Given the description of an element on the screen output the (x, y) to click on. 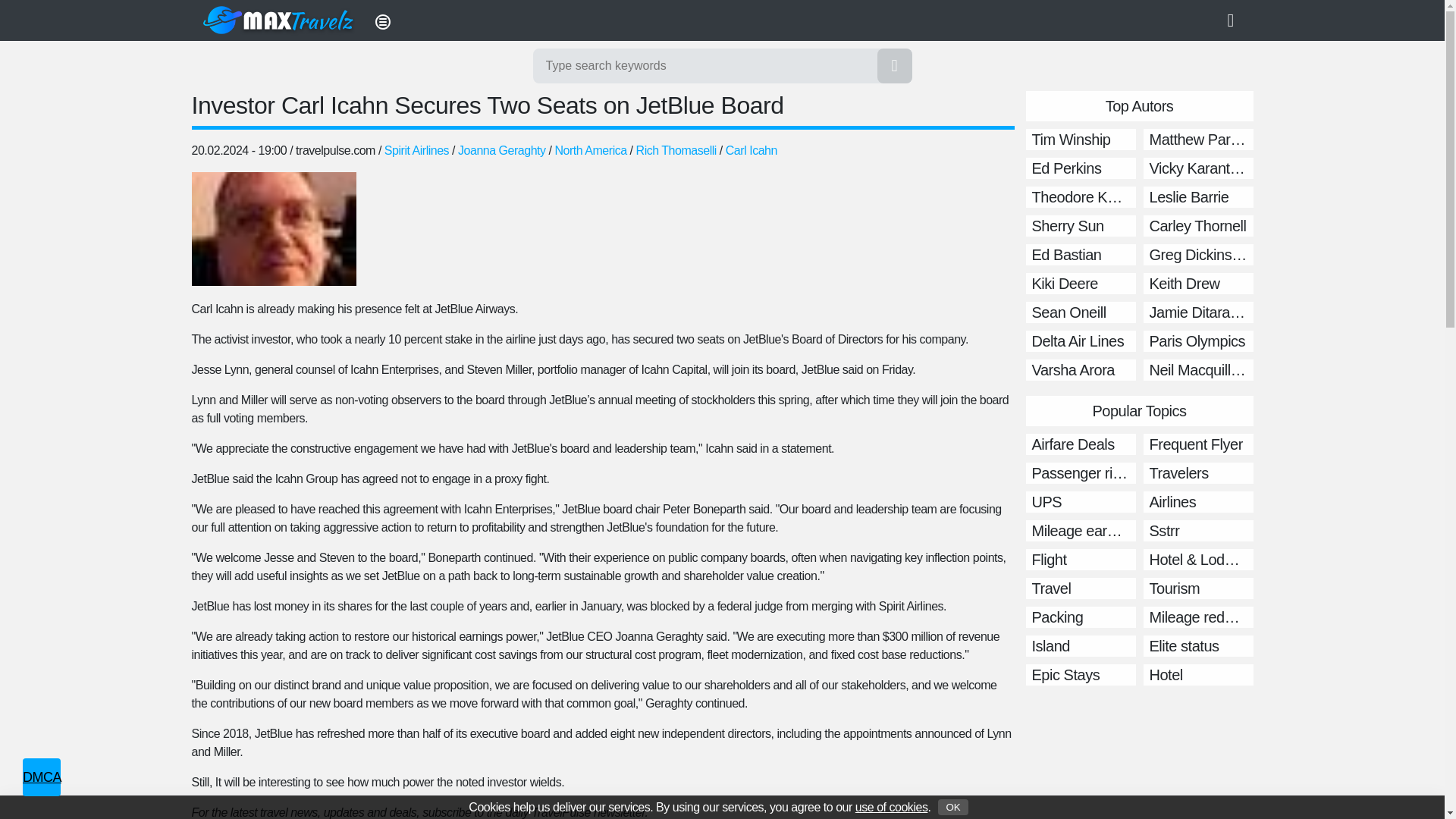
Joanna Geraghty (502, 150)
Spirit Airlines (416, 150)
Rich Thomaselli (676, 150)
travelpulse.com (335, 150)
maxtravelz.com (279, 20)
DARK MODE (1235, 20)
Carl Icahn (751, 150)
North America (590, 150)
